Given the description of an element on the screen output the (x, y) to click on. 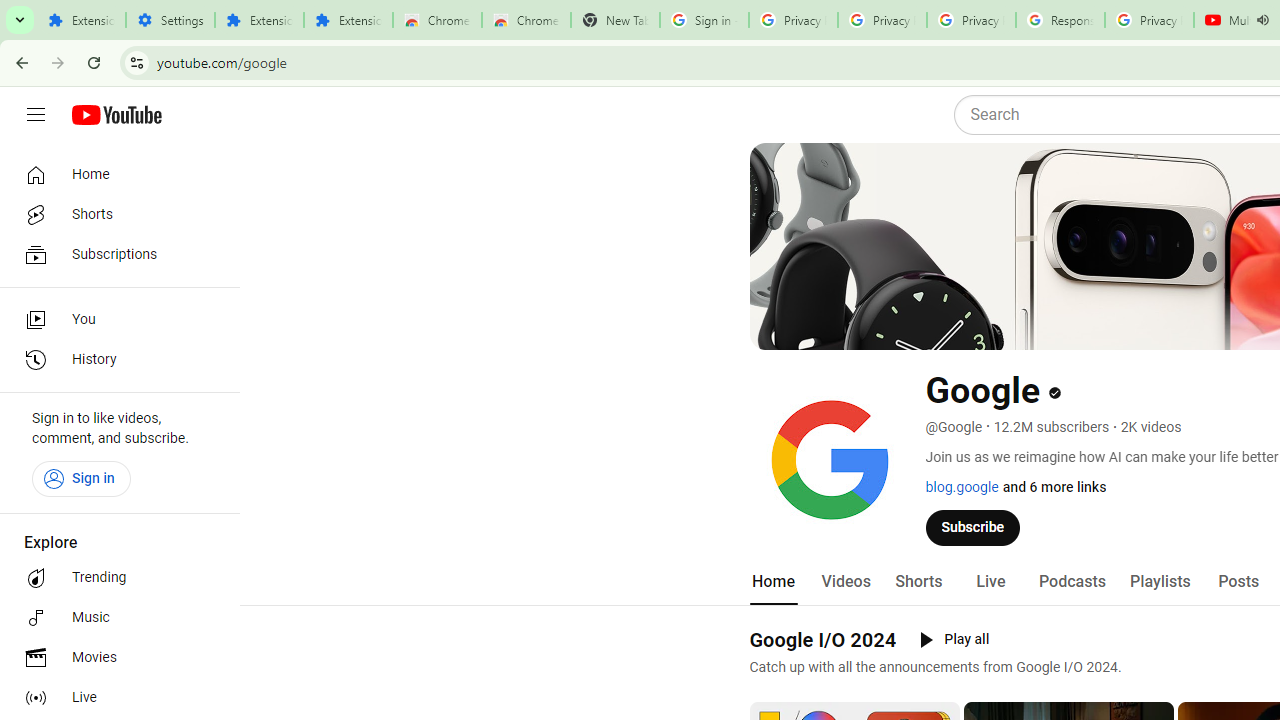
blog.google (961, 487)
Movies (113, 657)
Music (113, 617)
Shorts (113, 214)
Sign in (81, 478)
Sign in - Google Accounts (704, 20)
Live (113, 697)
Chrome Web Store - Themes (526, 20)
Home (772, 581)
